Given the description of an element on the screen output the (x, y) to click on. 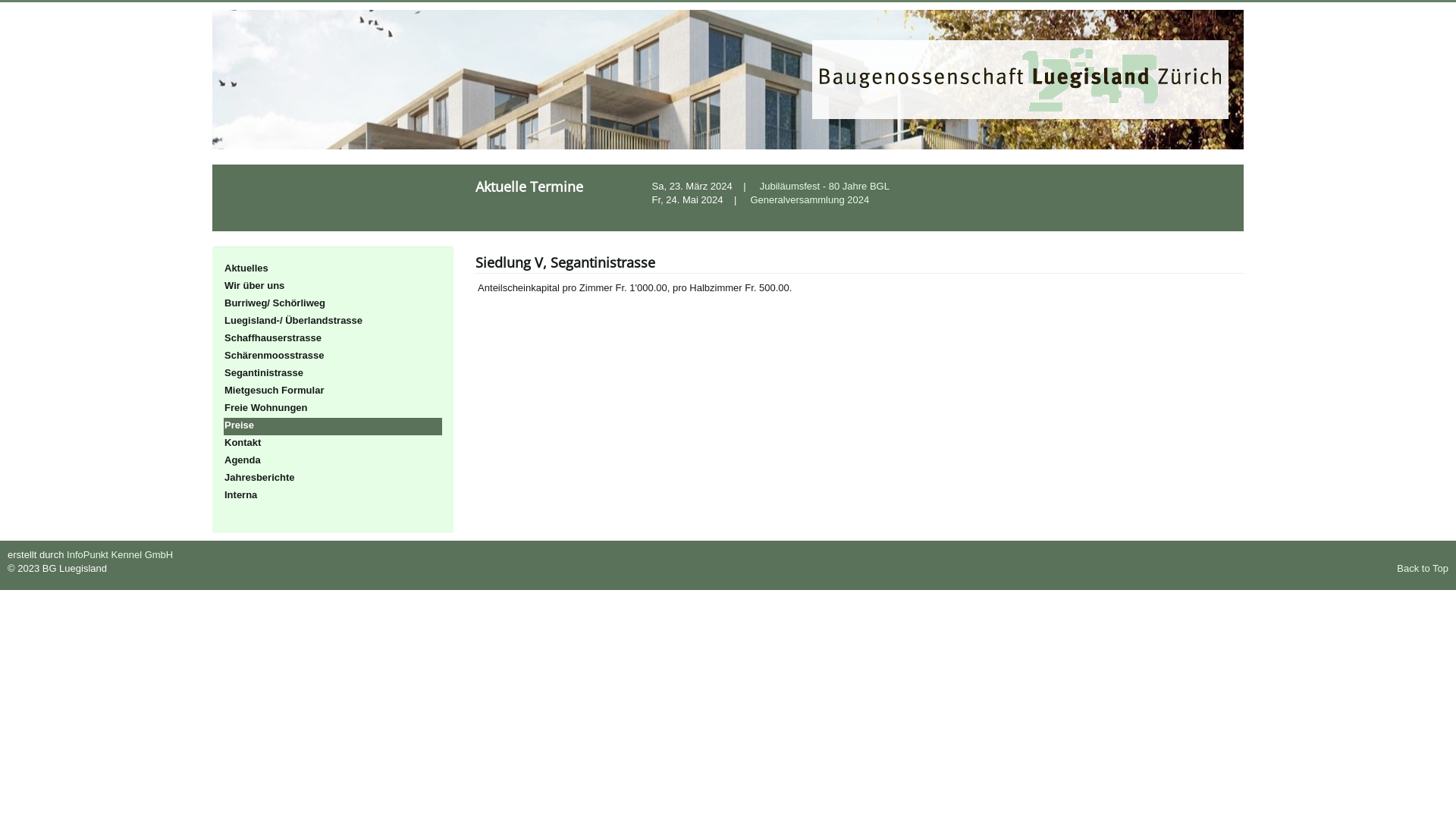
InfoPunkt Kennel GmbH Element type: text (119, 554)
Jahresberichte Element type: text (332, 478)
Aktuelles Element type: text (332, 269)
Agenda Element type: text (332, 461)
Kontakt Element type: text (332, 443)
Preise Element type: text (332, 426)
Schaffhauserstrasse Element type: text (332, 339)
Interna Element type: text (332, 496)
Back to Top Element type: text (1422, 568)
Mietgesuch Formular Element type: text (332, 391)
Generalversammlung 2024 Element type: text (809, 199)
Freie Wohnungen Element type: text (332, 408)
Segantinistrasse Element type: text (332, 373)
